Given the description of an element on the screen output the (x, y) to click on. 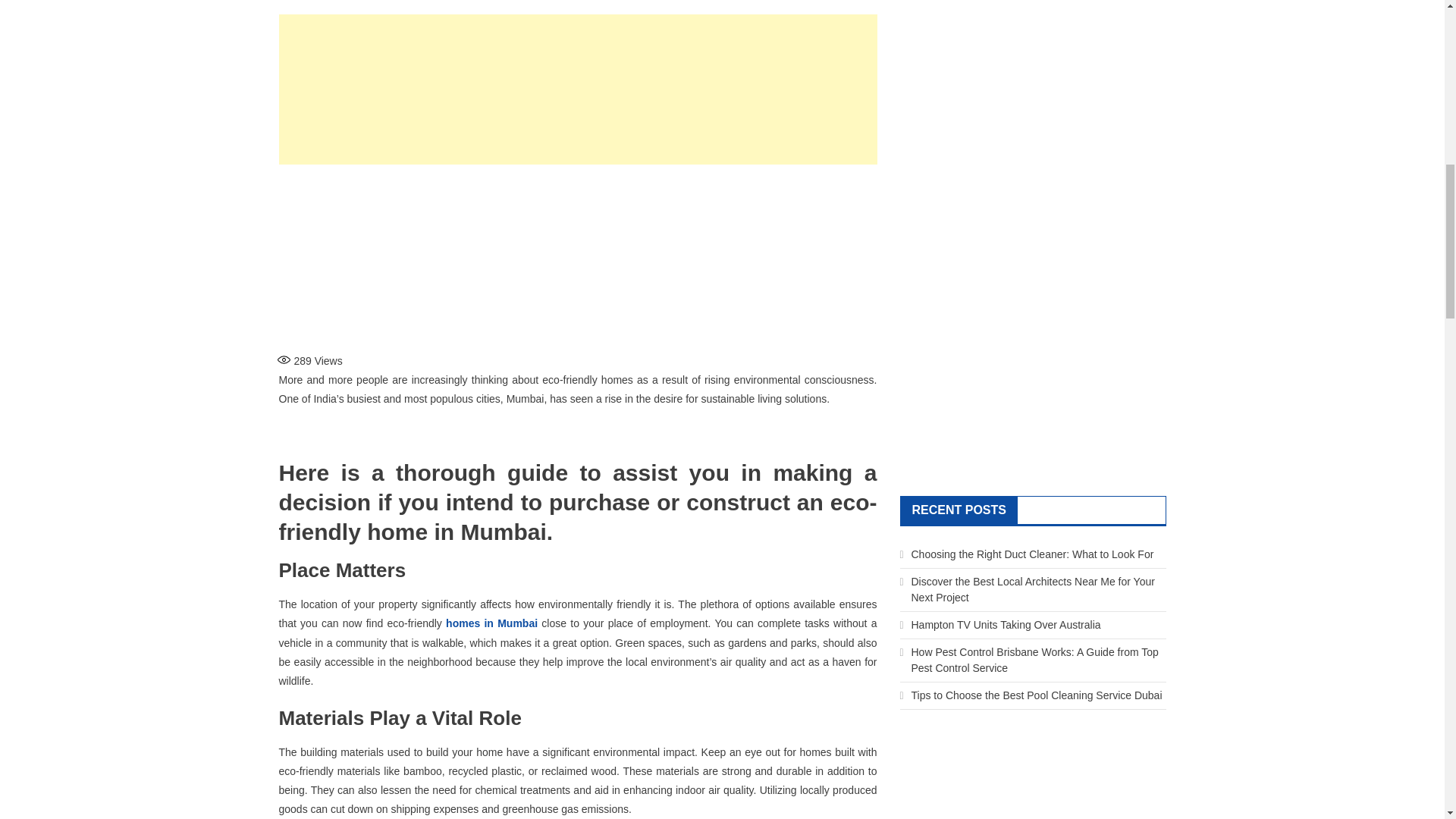
homes in Mumbai (491, 623)
Advertisement (578, 254)
